Given the description of an element on the screen output the (x, y) to click on. 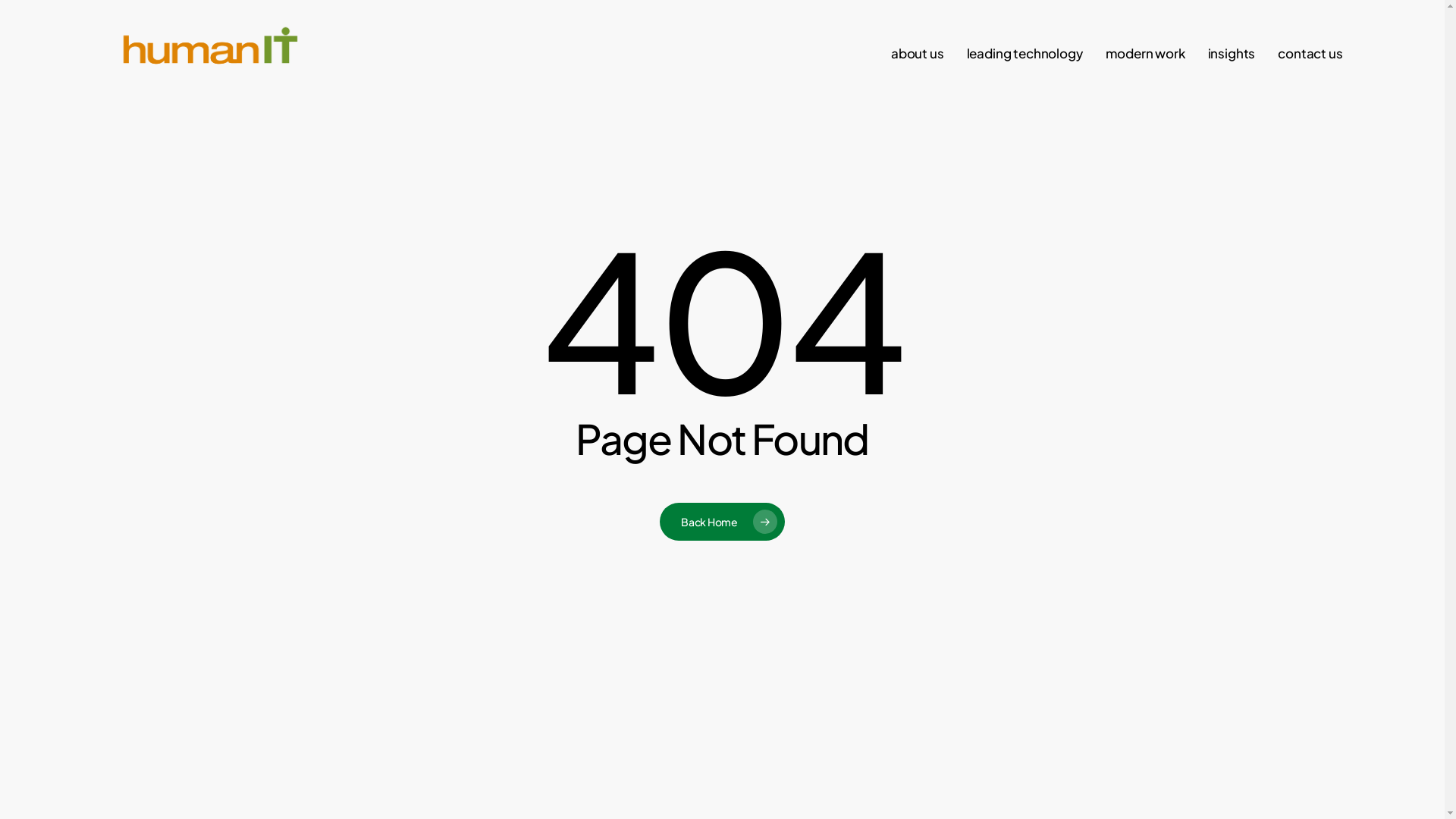
about us Element type: text (917, 53)
insights Element type: text (1231, 53)
Back Home Element type: text (721, 521)
leading technology Element type: text (1024, 53)
modern work Element type: text (1145, 53)
contact us Element type: text (1309, 53)
